Given the description of an element on the screen output the (x, y) to click on. 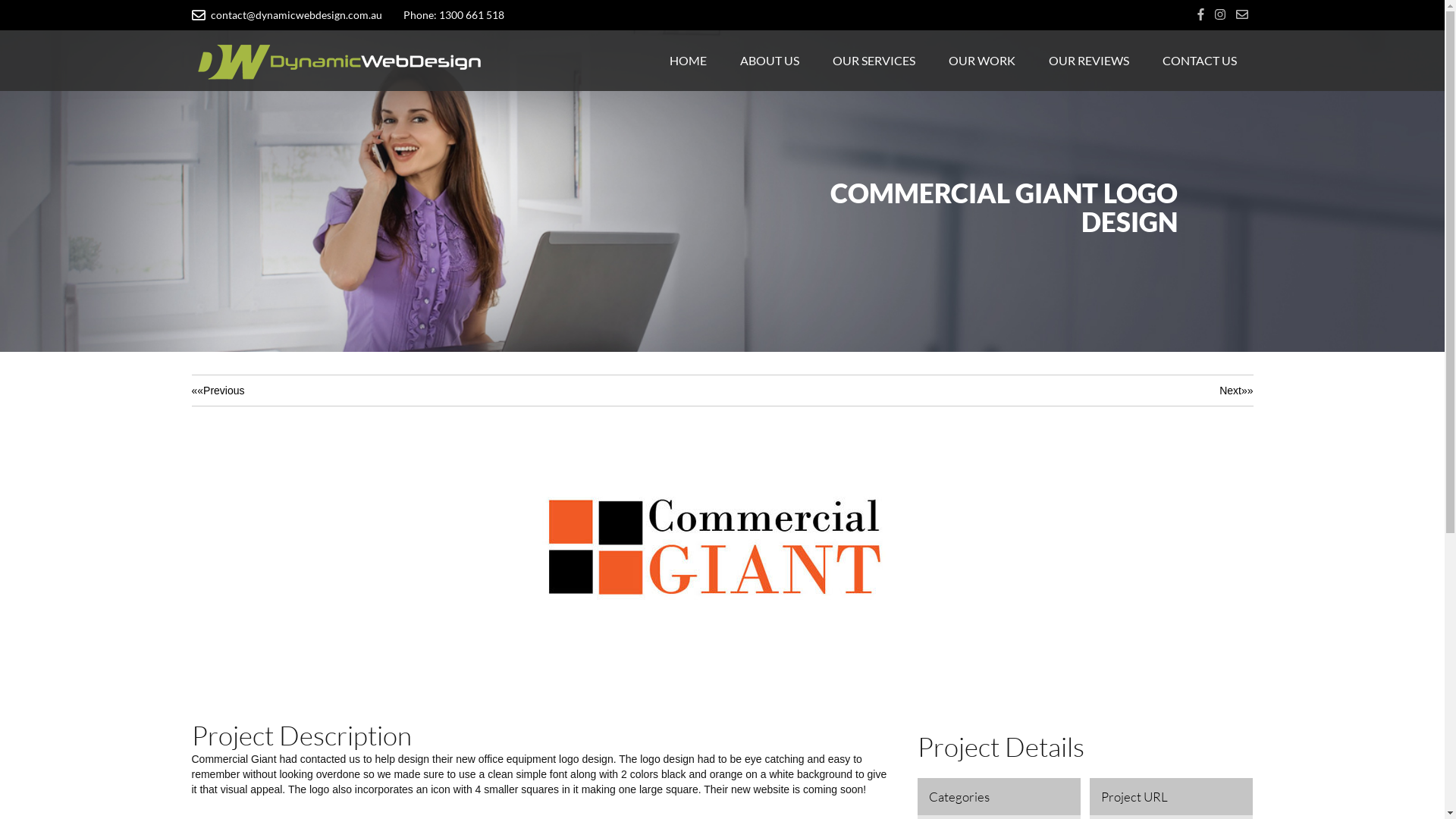
OUR SERVICES Element type: text (873, 60)
ABOUT US Element type: text (769, 60)
OUR REVIEWS Element type: text (1088, 60)
OUR WORK Element type: text (981, 60)
contact@dynamicwebdesign.com.au Element type: text (286, 14)
HOME Element type: text (687, 60)
CONTACT US Element type: text (1198, 60)
Phone: 1300 661 518 Element type: text (444, 14)
